Given the description of an element on the screen output the (x, y) to click on. 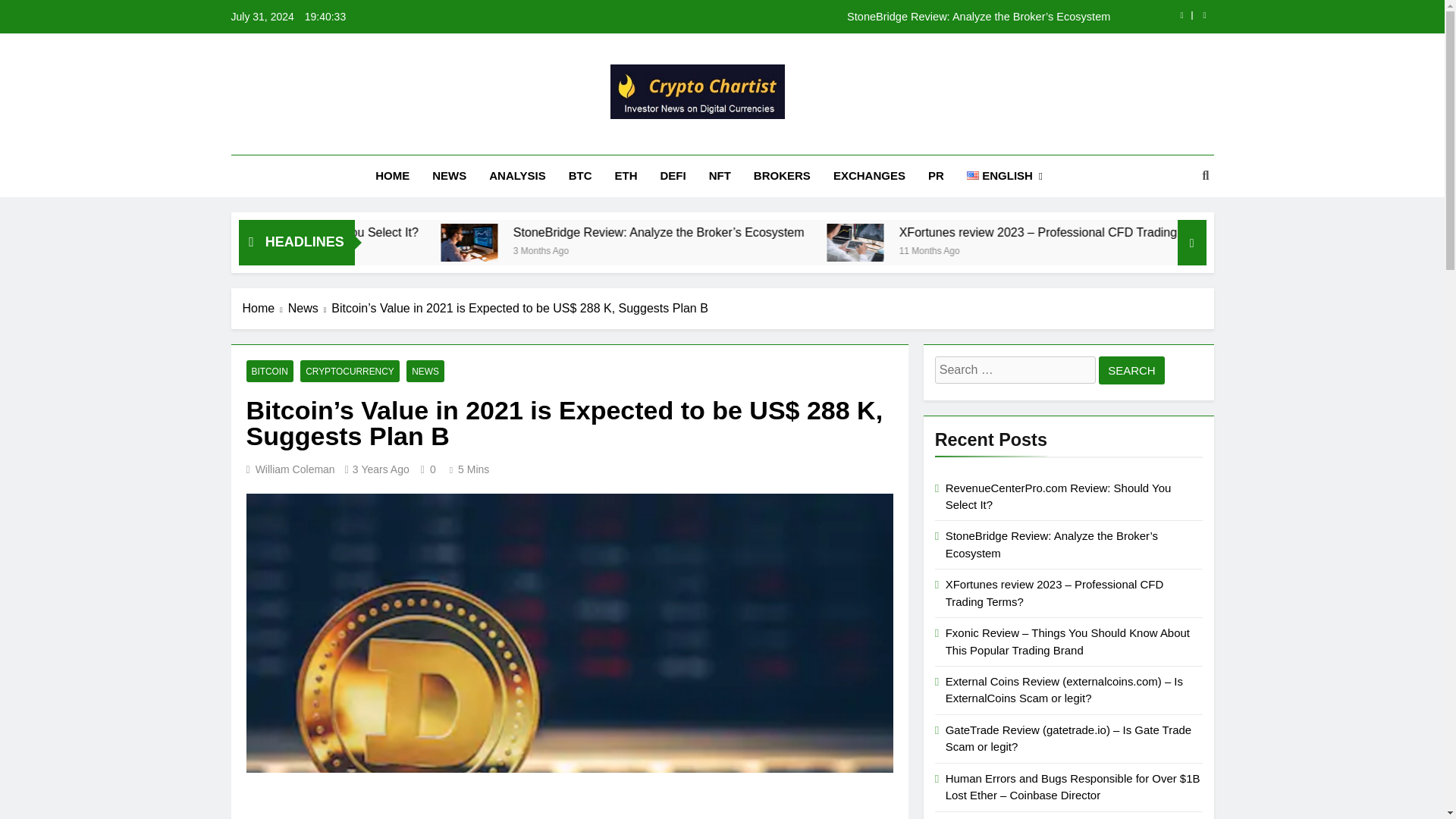
Crypto Trading Guide (594, 140)
2 Months Ago (375, 249)
DEFI (673, 175)
BTC (580, 175)
ETH (626, 175)
EXCHANGES (869, 175)
RevenueCenterPro.com Review: Should You Select It? (462, 232)
3 Months Ago (756, 249)
ENGLISH (1004, 176)
NEWS (448, 175)
